Given the description of an element on the screen output the (x, y) to click on. 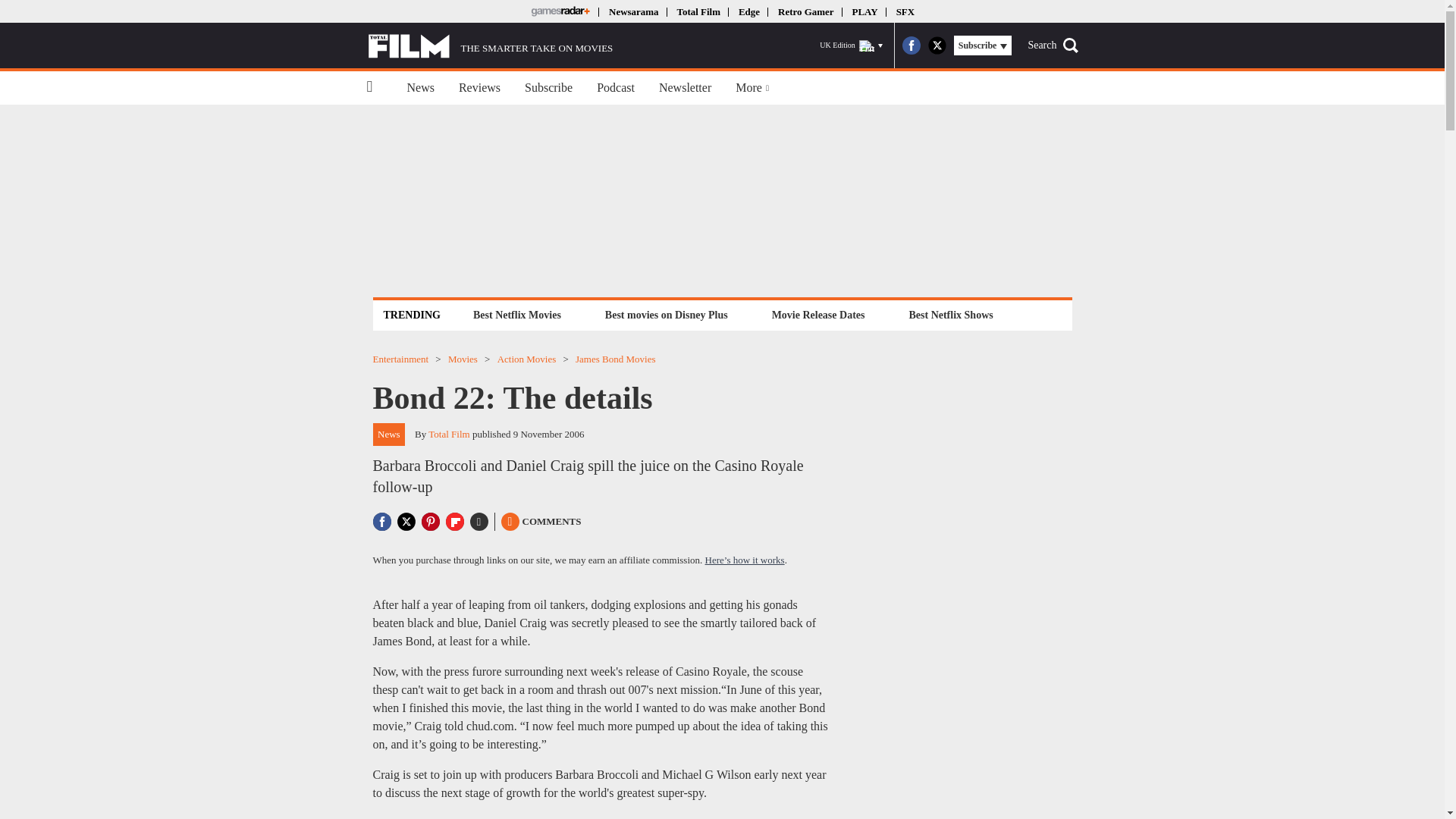
UK Edition (850, 45)
Subscribe (548, 87)
Retro Gamer (805, 11)
Best movies on Disney Plus (666, 314)
Edge (749, 11)
THE SMARTER TAKE ON MOVIES (489, 44)
Total Film (698, 11)
Reviews (479, 87)
Best Netflix Movies (516, 314)
Newsarama (633, 11)
